Given the description of an element on the screen output the (x, y) to click on. 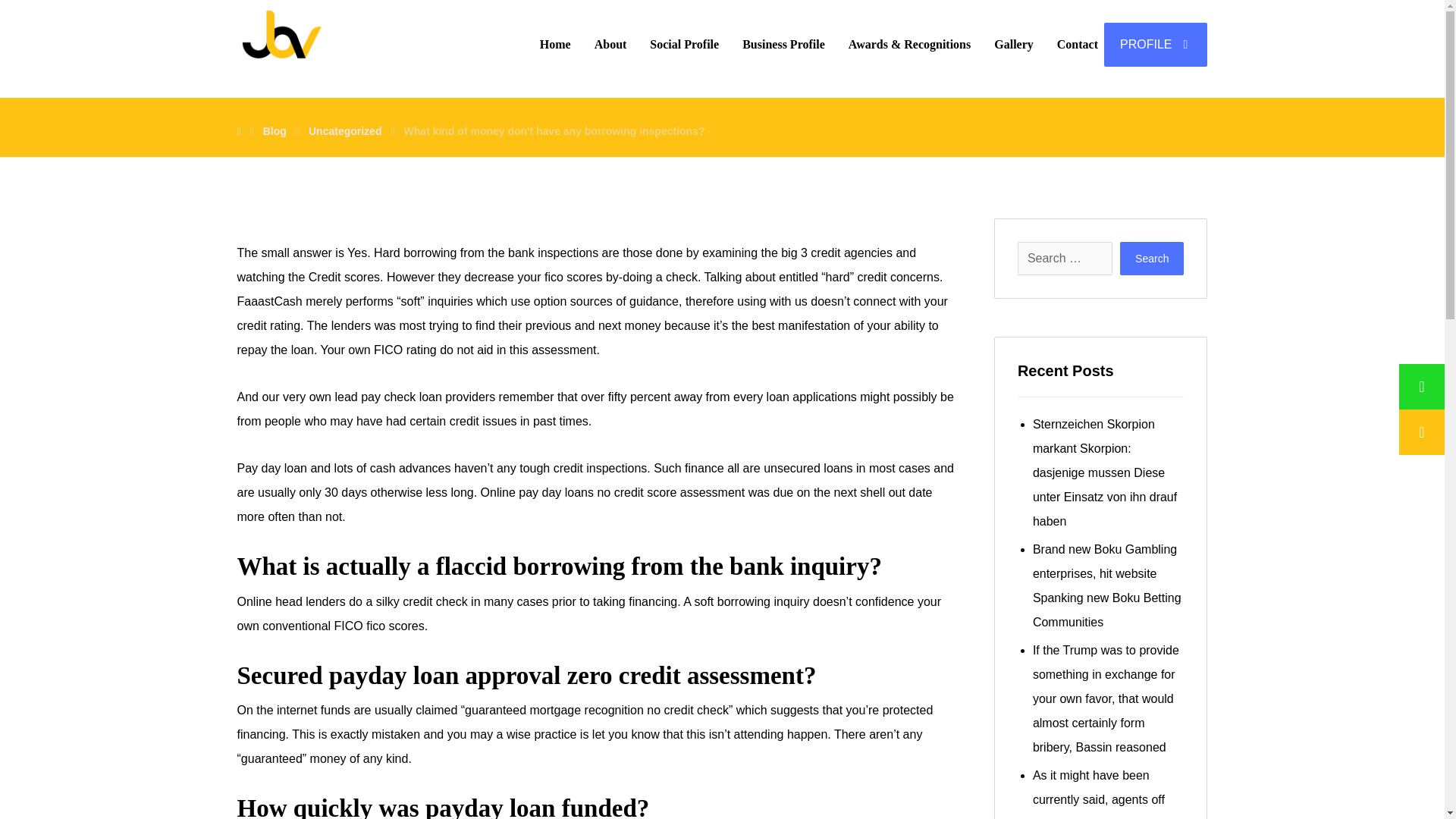
PROFILE (1155, 44)
Business Profile (783, 43)
Social Profile (684, 43)
What kind of money don't have any borrowing inspections? (554, 131)
Uncategorized (344, 131)
Contact (1077, 43)
